Given the description of an element on the screen output the (x, y) to click on. 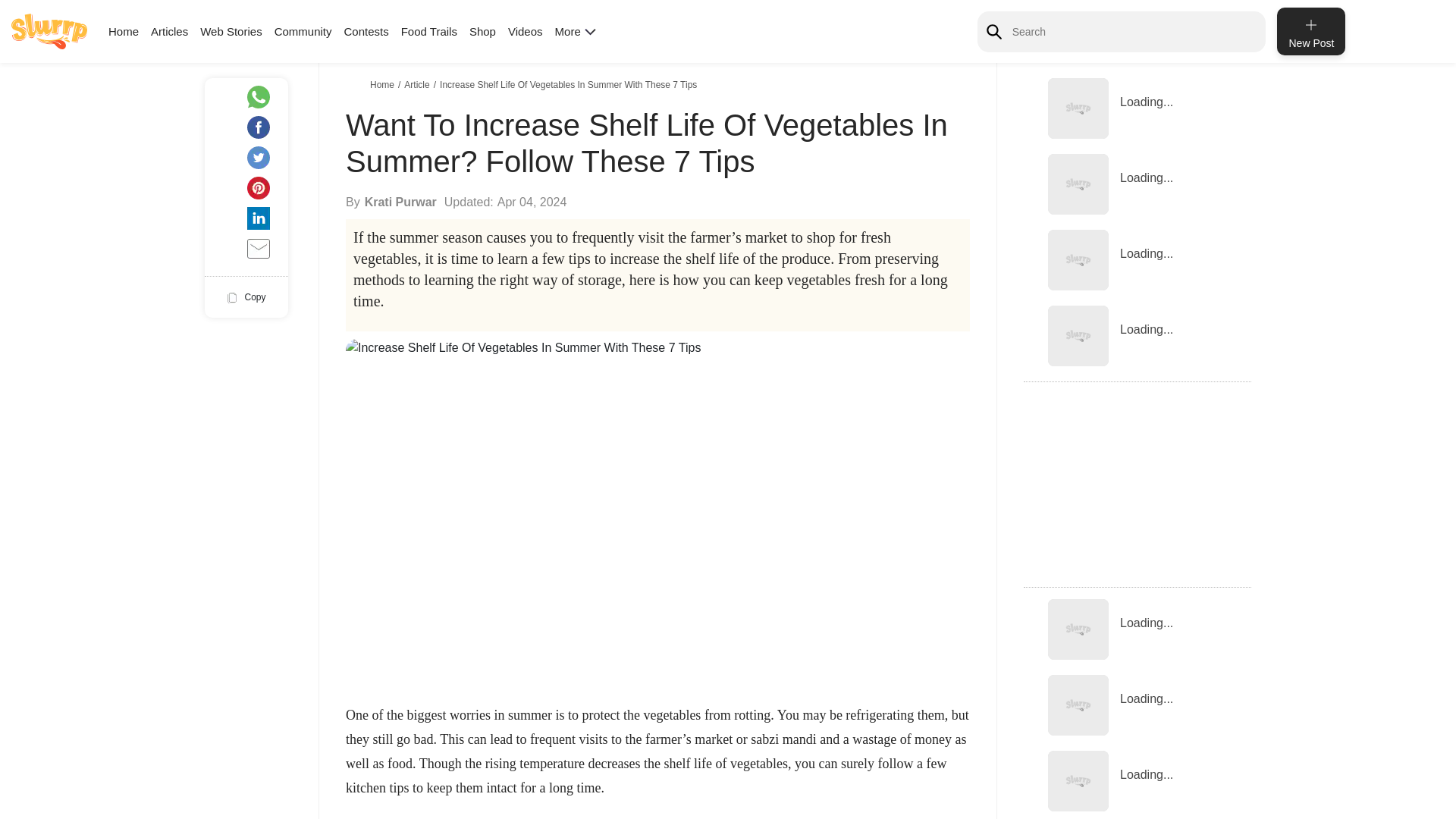
New Post (1310, 31)
Article (418, 84)
Contests (365, 31)
Web Stories (231, 31)
Home (122, 31)
Shop (482, 31)
Videos (525, 31)
Community (303, 31)
Articles (169, 31)
Food Trails (429, 31)
